Given the description of an element on the screen output the (x, y) to click on. 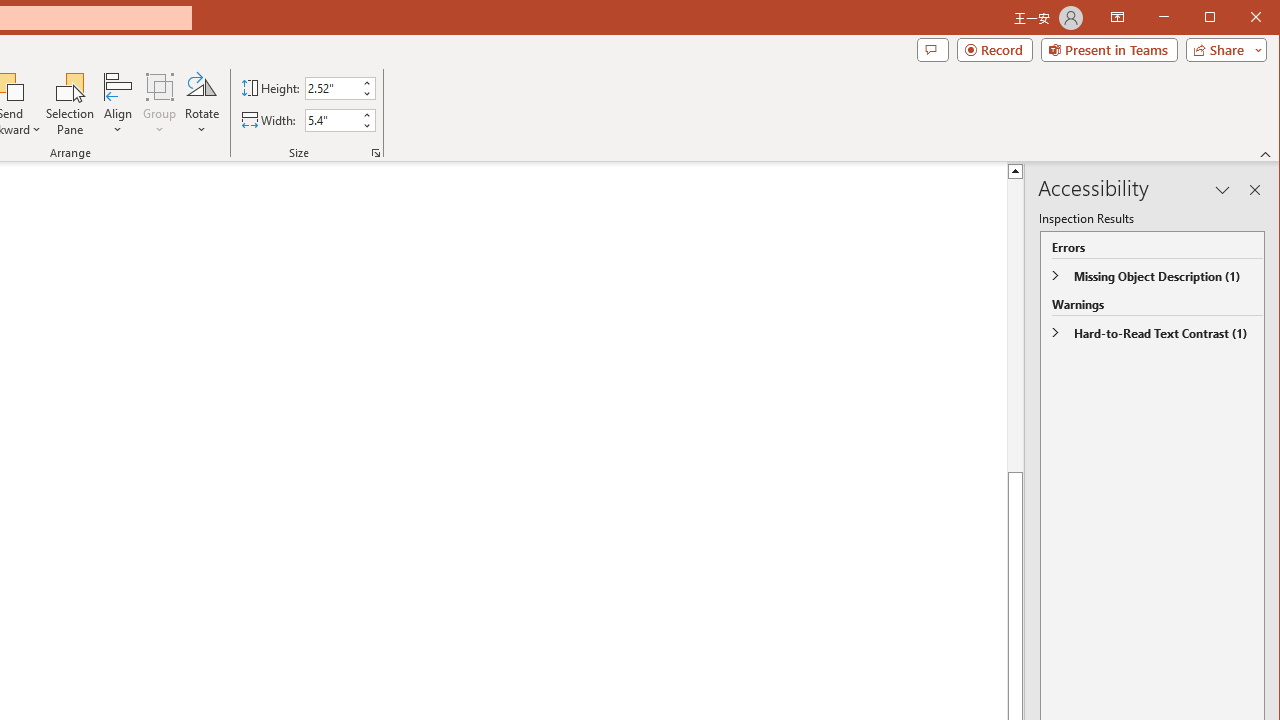
Page up (1015, 311)
Rotate (201, 104)
Size and Position... (376, 152)
